Given the description of an element on the screen output the (x, y) to click on. 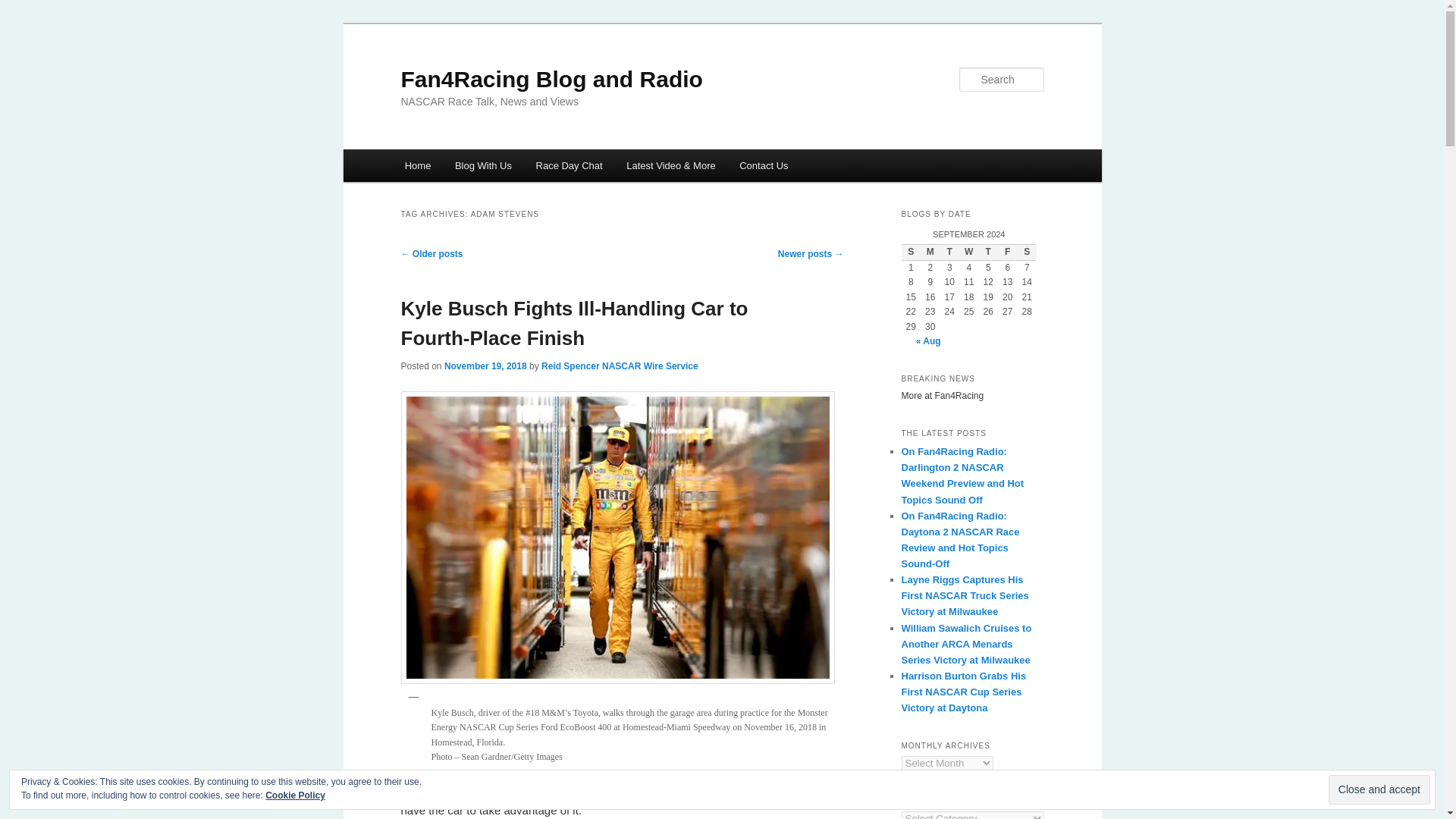
11:36 am (485, 366)
Official NASCAR Videos (670, 165)
Fan4Racing Home (417, 165)
Fan4Racing Blog and Radio (550, 78)
More at Fan4Racing (972, 396)
Join our Fan4Racing Team (483, 165)
Home (417, 165)
View all posts by Reid Spencer NASCAR Wire Service (619, 366)
Contact Us (762, 165)
